Given the description of an element on the screen output the (x, y) to click on. 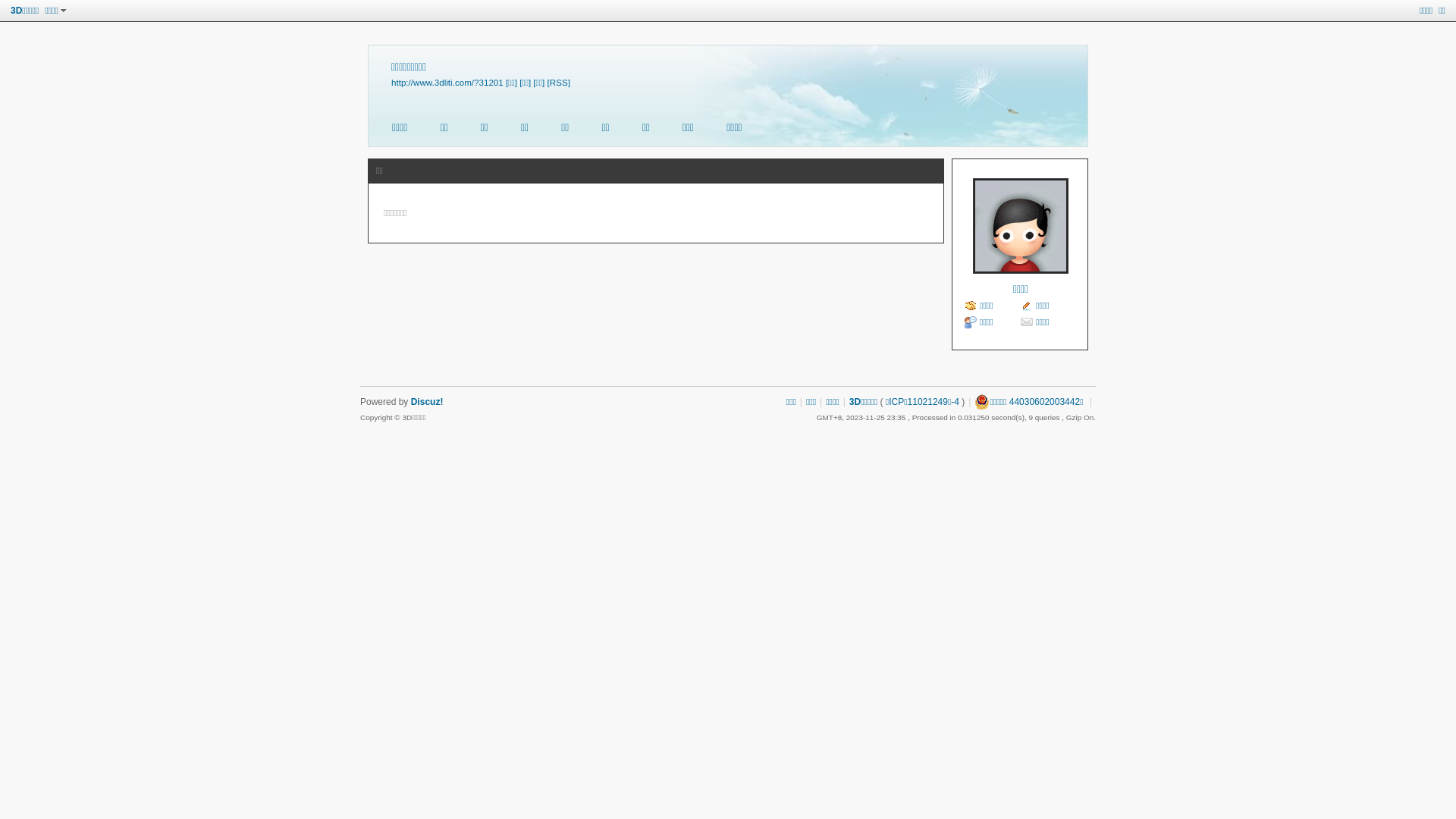
Discuz! Element type: text (427, 401)
http://www.3dliti.com/?31201 Element type: text (447, 82)
[RSS] Element type: text (558, 82)
